Given the description of an element on the screen output the (x, y) to click on. 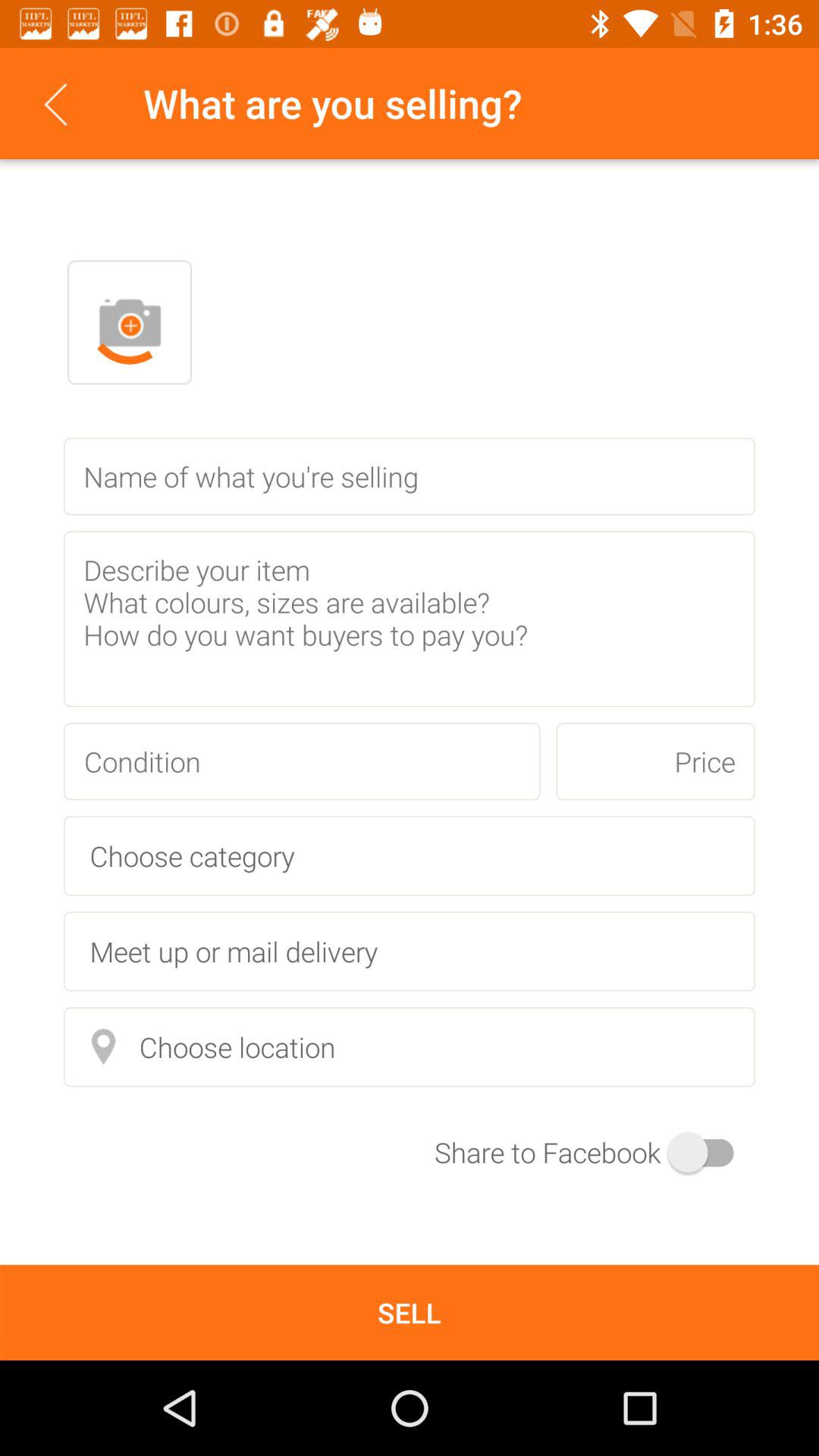
click to describe your item (409, 618)
